Given the description of an element on the screen output the (x, y) to click on. 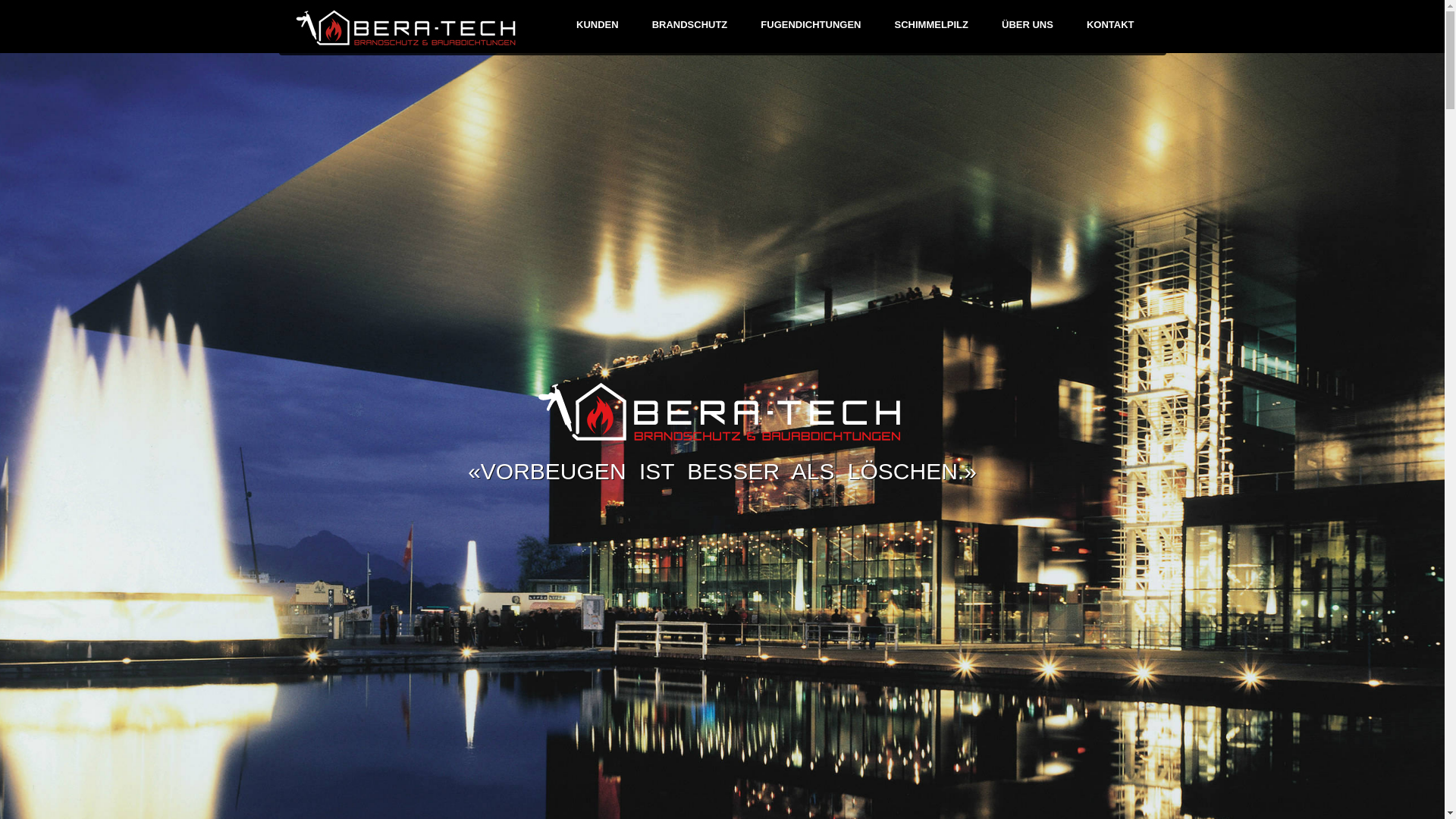
SCHIMMELPILZ Element type: text (931, 22)
FUGENDICHTUNGEN Element type: text (810, 22)
KONTAKT Element type: text (1110, 22)
BRANDSCHUTZ Element type: text (690, 22)
KUNDEN Element type: text (597, 22)
